Given the description of an element on the screen output the (x, y) to click on. 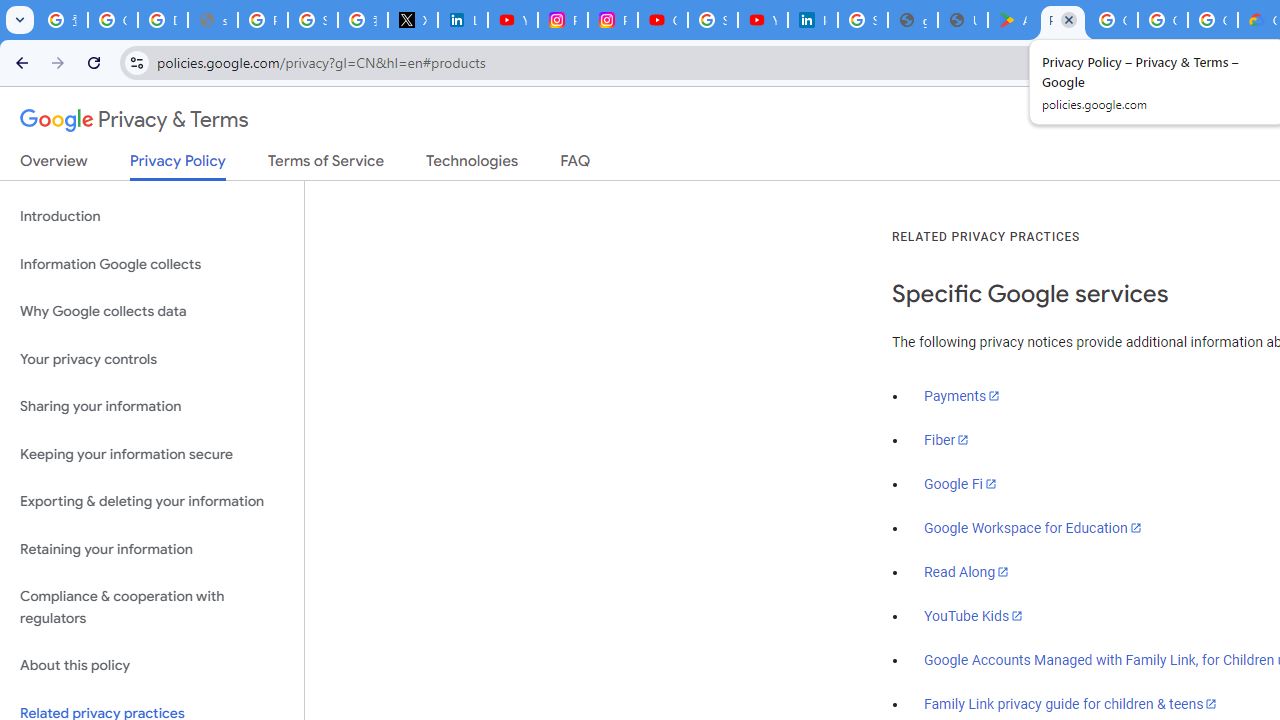
Terms of Service (326, 165)
Android Apps on Google Play (1013, 20)
Google Workspace for Education (1032, 528)
Overview (54, 165)
Privacy Help Center - Policies Help (262, 20)
Google Fi (960, 484)
Technologies (472, 165)
Sign in - Google Accounts (312, 20)
google_privacy_policy_en.pdf (913, 20)
Compliance & cooperation with regulators (152, 607)
